Given the description of an element on the screen output the (x, y) to click on. 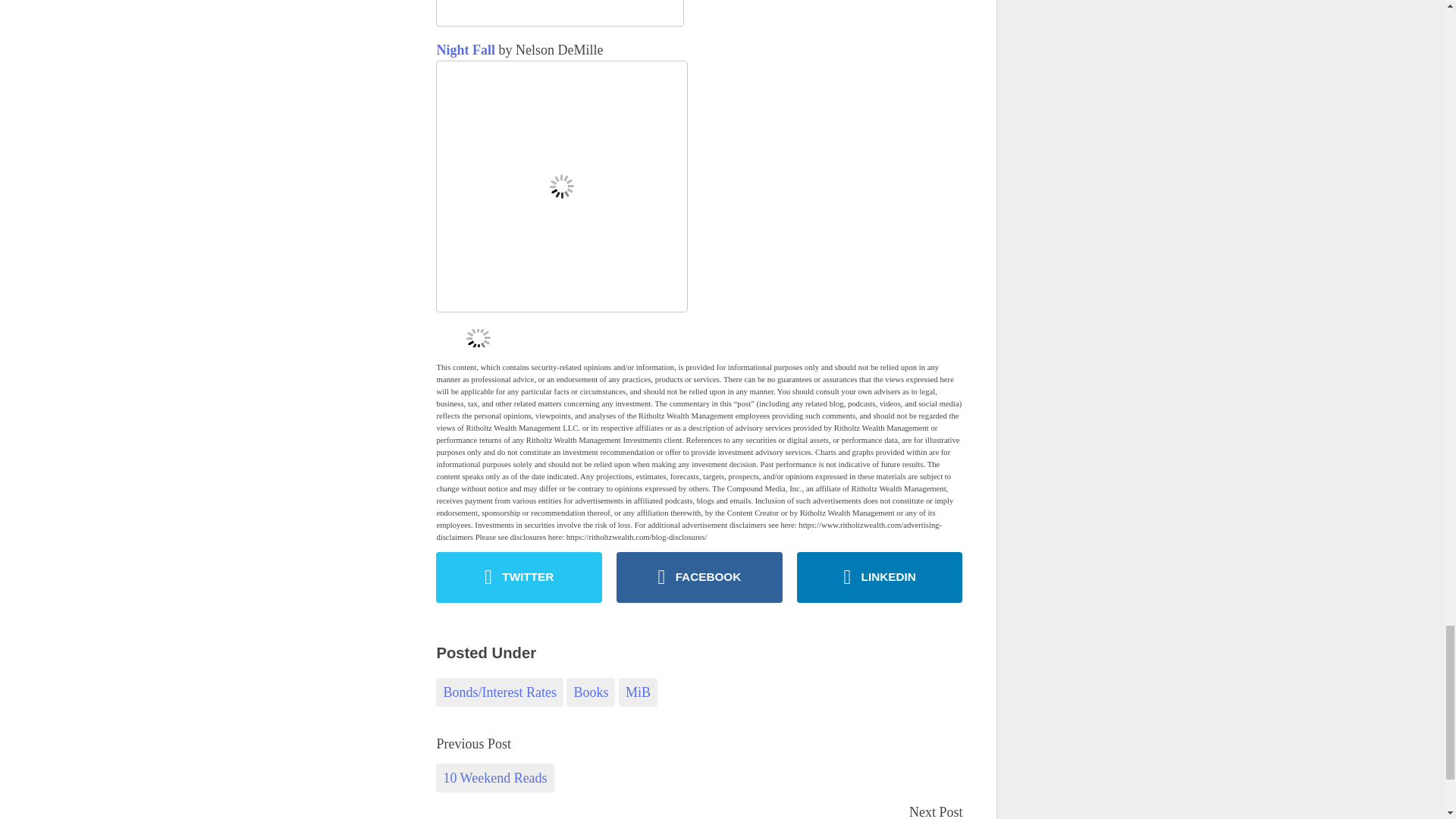
MiB (638, 692)
LINKEDIN (879, 577)
TWITTER (518, 577)
FACEBOOK (699, 577)
Books (590, 692)
Night Fall (465, 49)
